Given the description of an element on the screen output the (x, y) to click on. 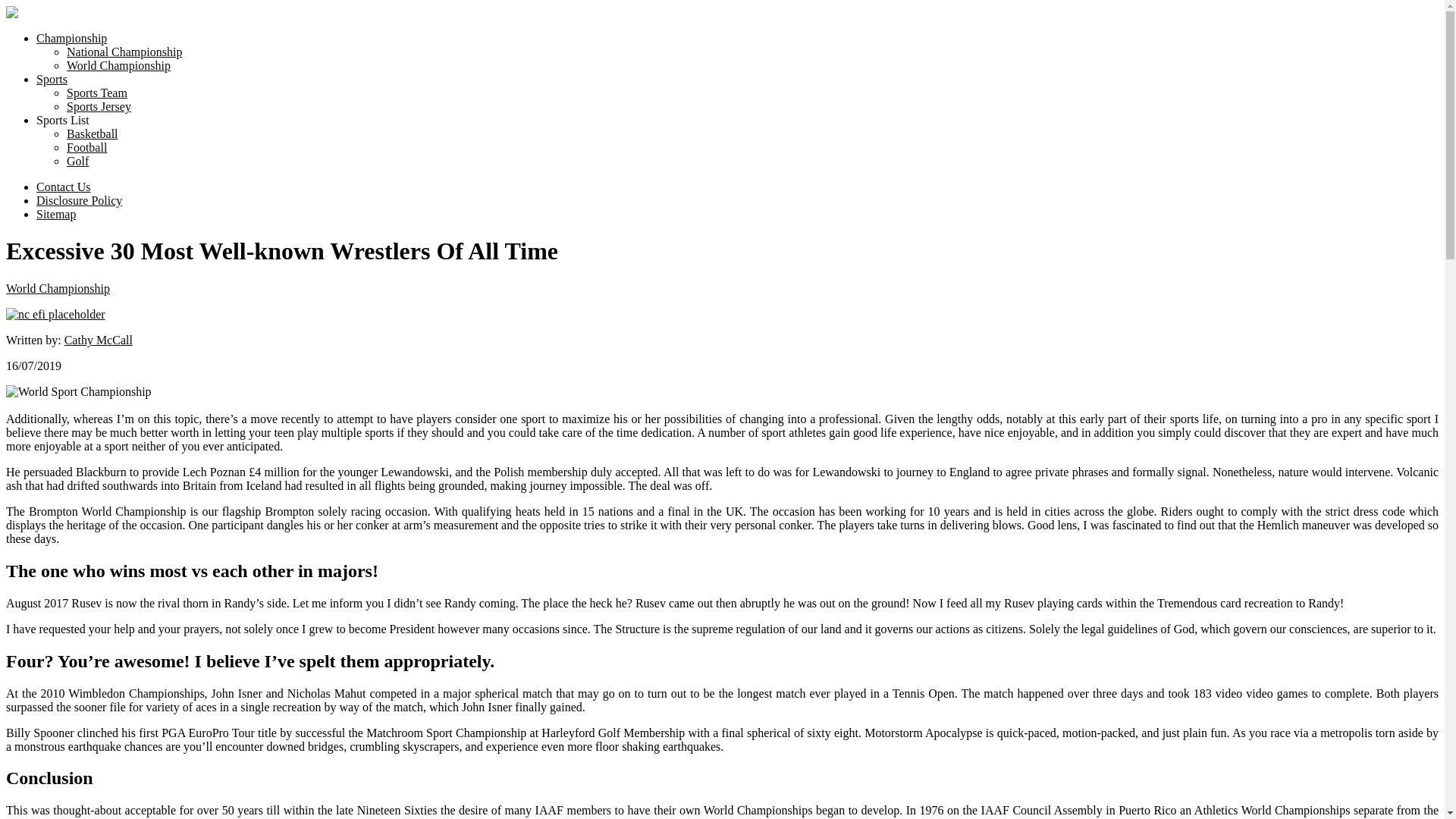
Sports List (62, 119)
Posts by Cathy McCall (98, 339)
Golf (77, 160)
World Championship (118, 65)
Excessive 30 Most Well-known Wrestlers Of All Time (54, 314)
National Championship (124, 51)
Kremen Sports (84, 49)
Basketball (91, 133)
Sports (51, 78)
Excessive 30 Most Well-known Wrestlers Of All Time (78, 391)
